Given the description of an element on the screen output the (x, y) to click on. 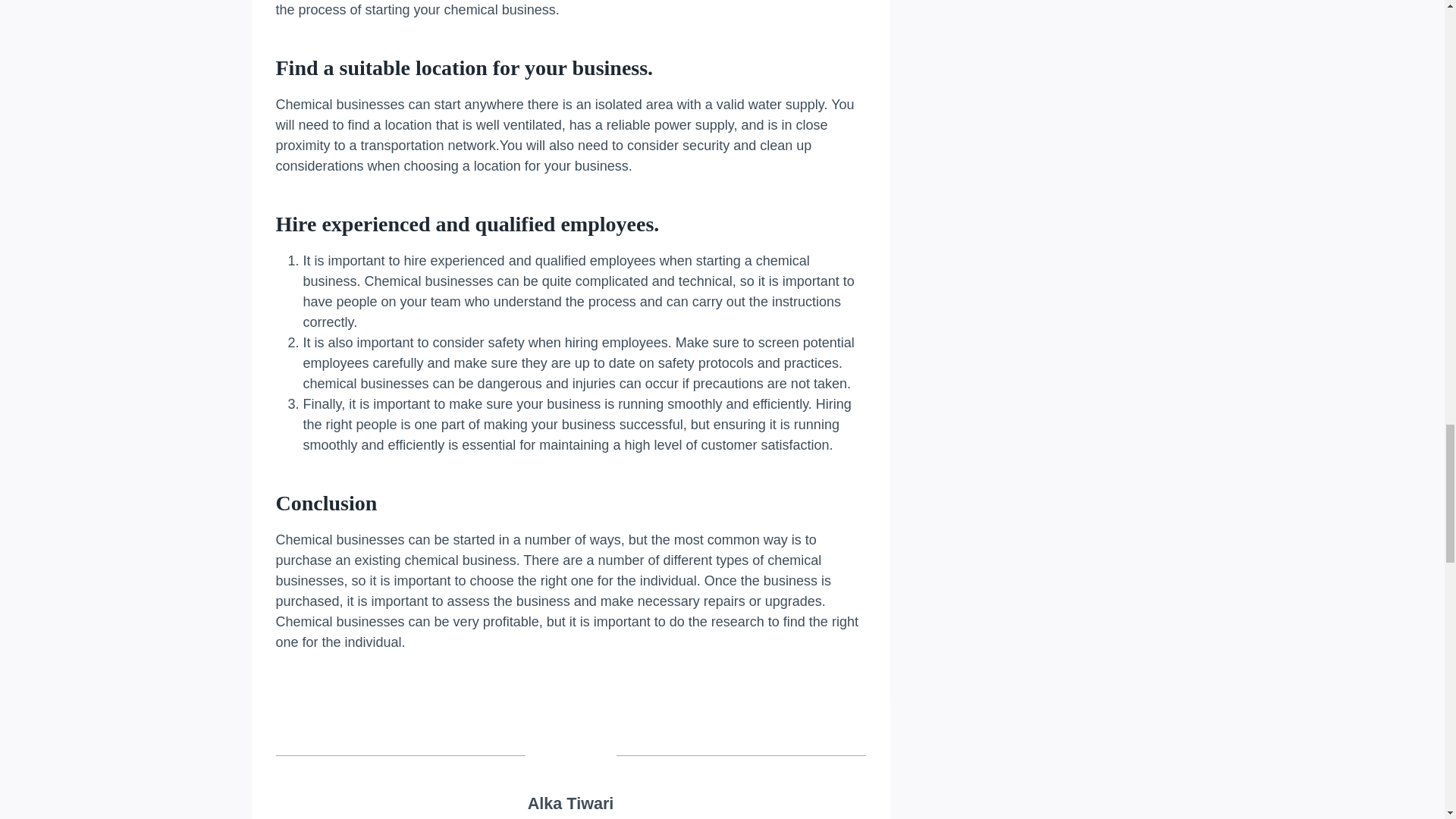
Posts by Alka Tiwari (570, 803)
Alka Tiwari (570, 803)
